Given the description of an element on the screen output the (x, y) to click on. 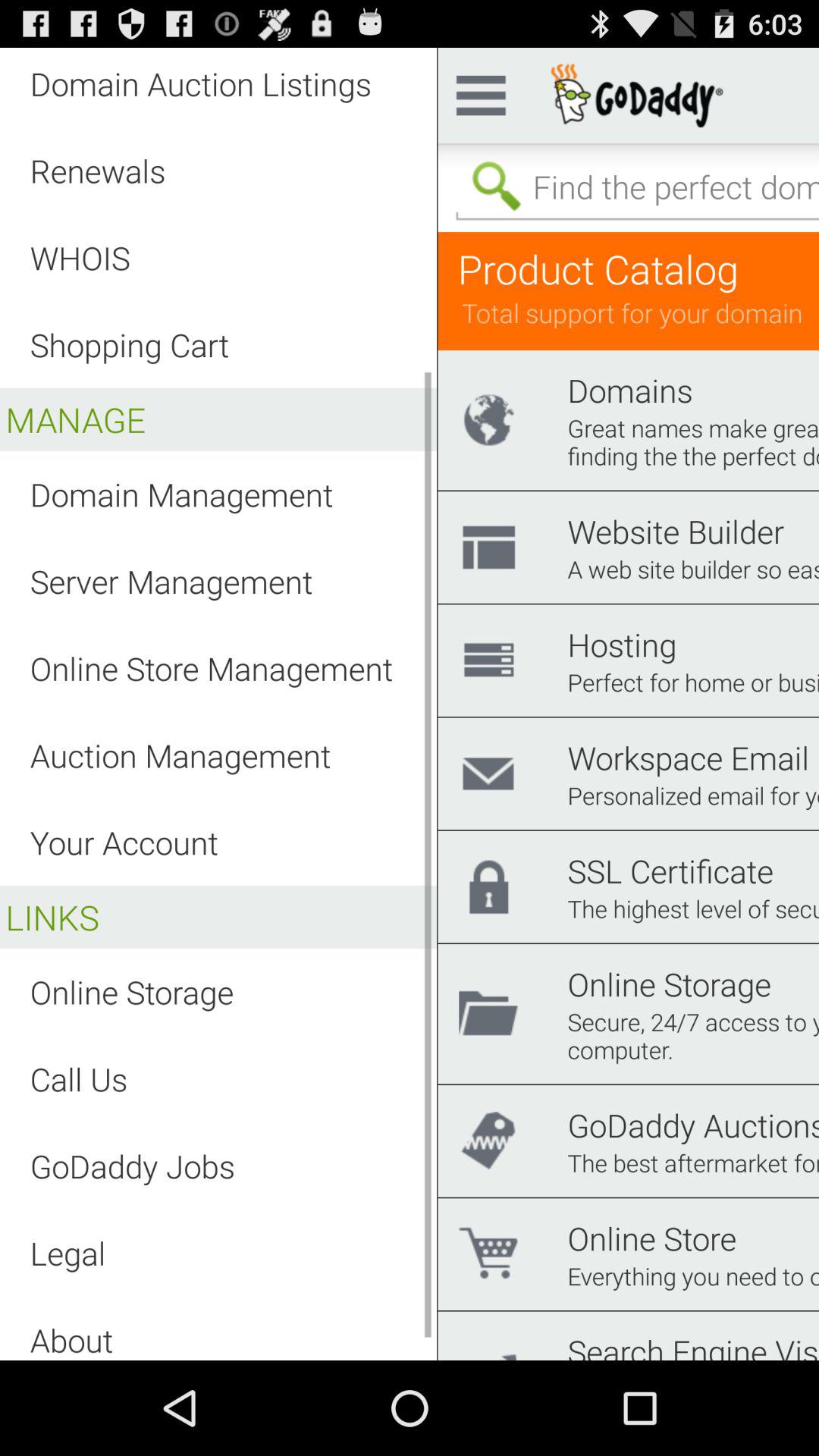
choose the item above the renewals (200, 83)
